Given the description of an element on the screen output the (x, y) to click on. 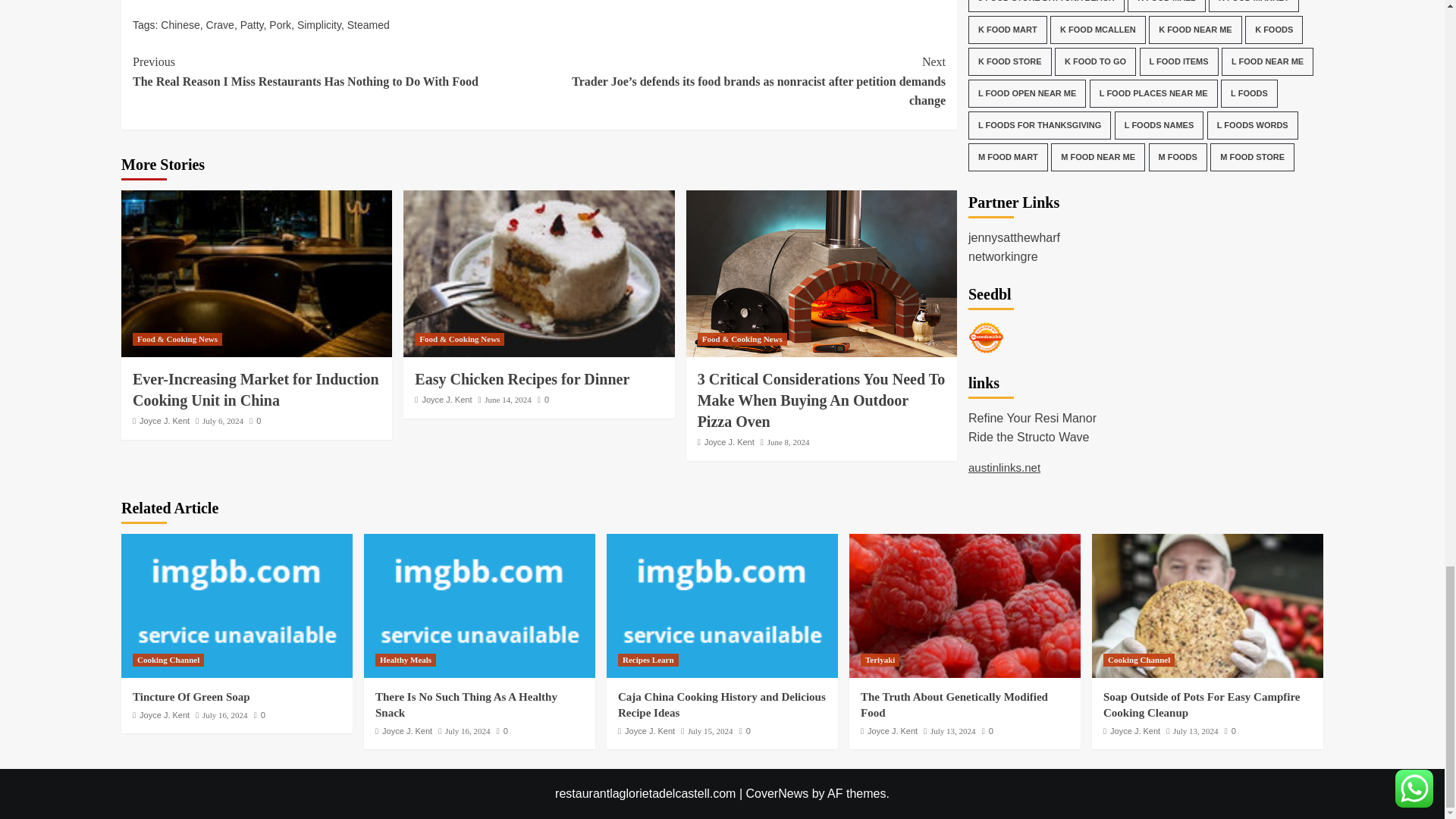
Patty (251, 24)
Joyce J. Kent (164, 420)
Pork (280, 24)
There Is No Such Thing As A Healthy Snack (479, 605)
Chinese (179, 24)
0 (254, 420)
July 6, 2024 (222, 420)
Simplicity (318, 24)
Tincture Of Green Soap (236, 605)
Ever-Increasing Market for Induction Cooking Unit in China (255, 273)
Caja China Cooking History and Delicious Recipe Ideas (722, 605)
Ever-Increasing Market for Induction Cooking Unit in China (255, 389)
Steamed (368, 24)
Easy Chicken Recipes for Dinner (538, 273)
